Given the description of an element on the screen output the (x, y) to click on. 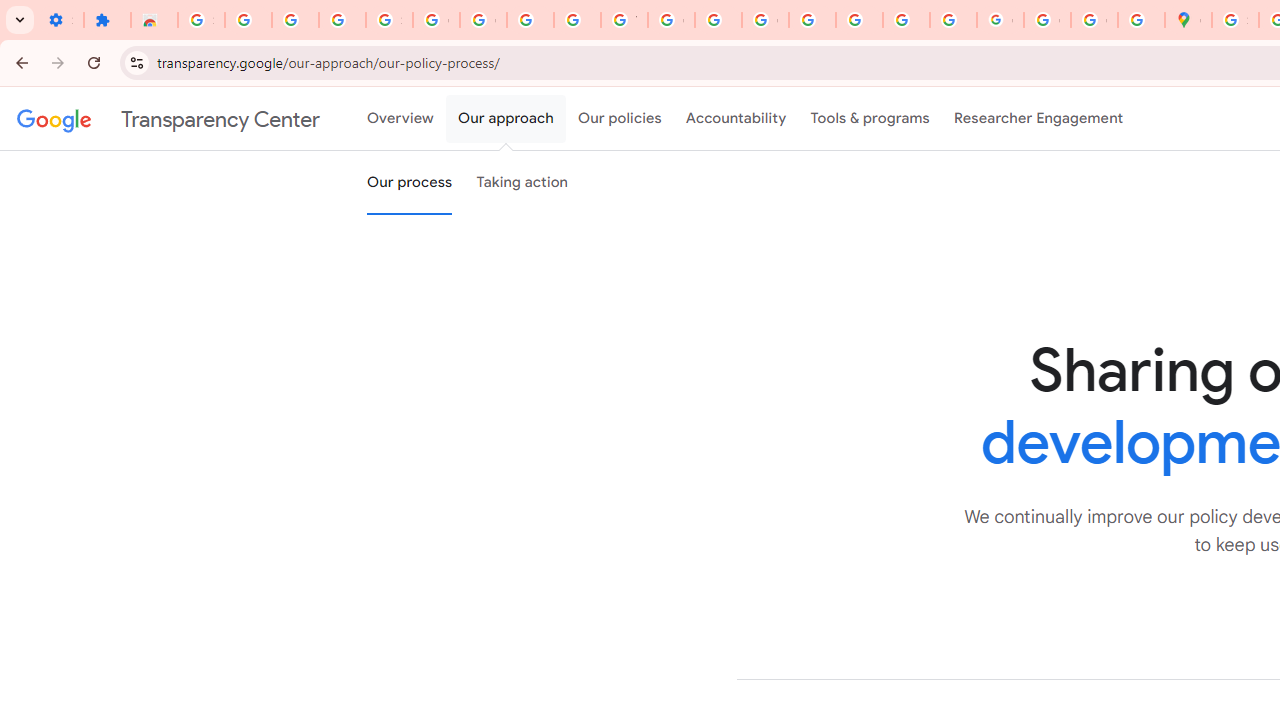
Our process (409, 183)
Google Maps (1188, 20)
Transparency Center (167, 119)
Taking action (522, 183)
Privacy Help Center - Policies Help (811, 20)
https://scholar.google.com/ (718, 20)
Sign in - Google Accounts (1235, 20)
Settings - On startup (60, 20)
